Given the description of an element on the screen output the (x, y) to click on. 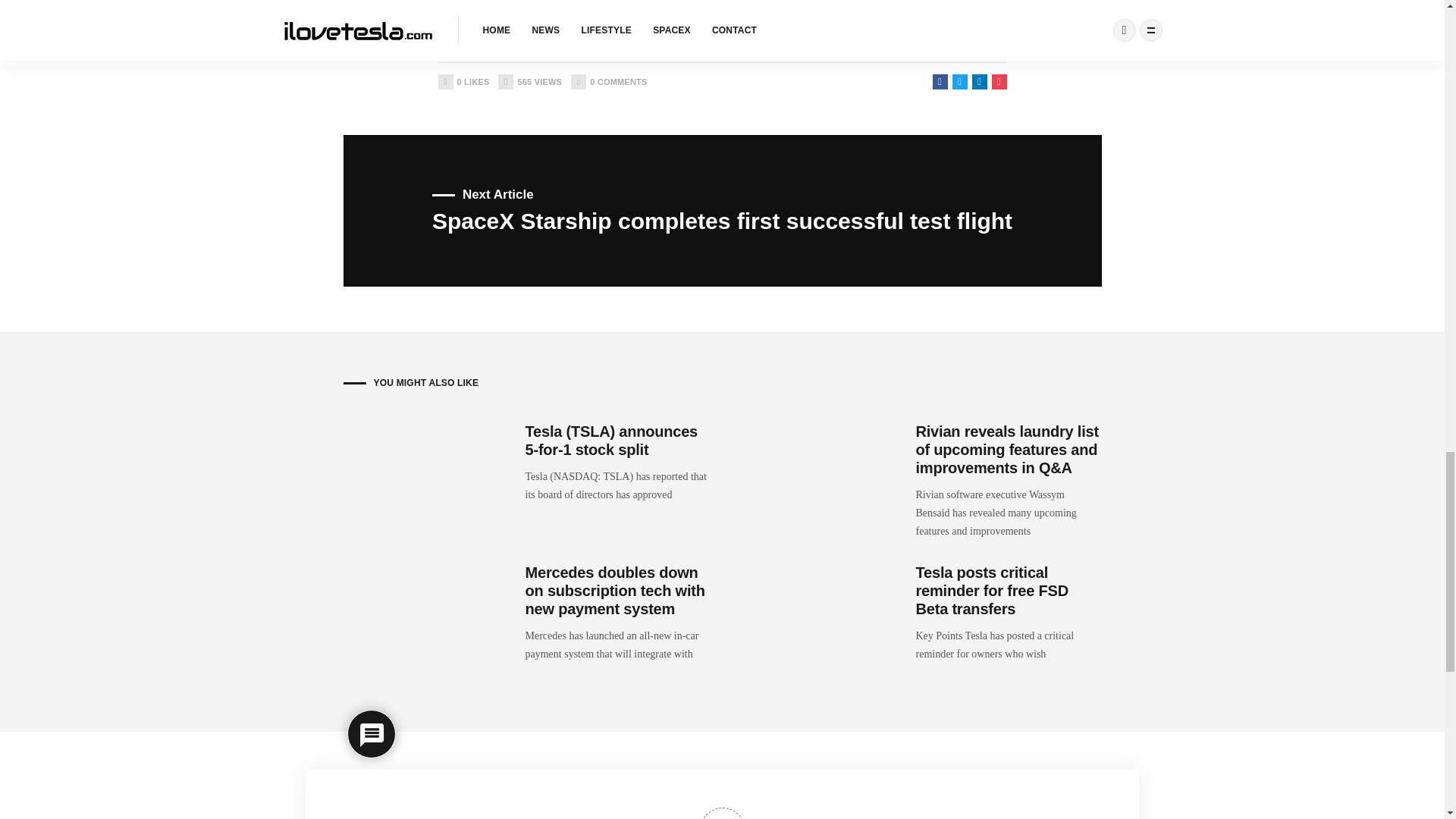
Tesla posts critical reminder for free FSD Beta transfers (991, 590)
